Given the description of an element on the screen output the (x, y) to click on. 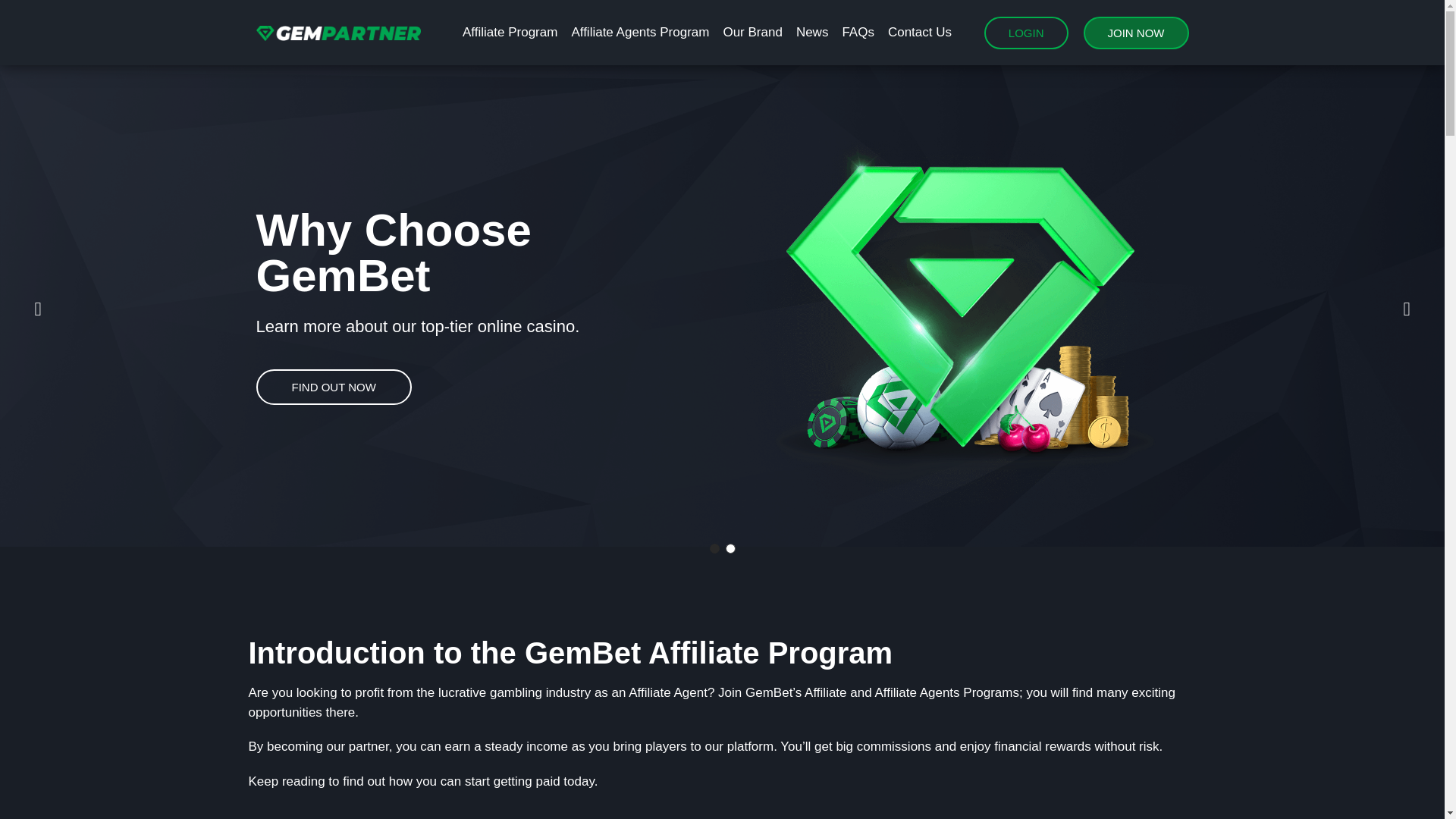
JOIN NOW (1135, 32)
FIND OUT NOW (334, 386)
1 (714, 548)
LOGIN (1026, 32)
FAQs (858, 32)
News (812, 32)
Affiliate Agents Program (639, 32)
Affiliate Program (510, 32)
Contact Us (920, 32)
Our Brand (751, 32)
